Given the description of an element on the screen output the (x, y) to click on. 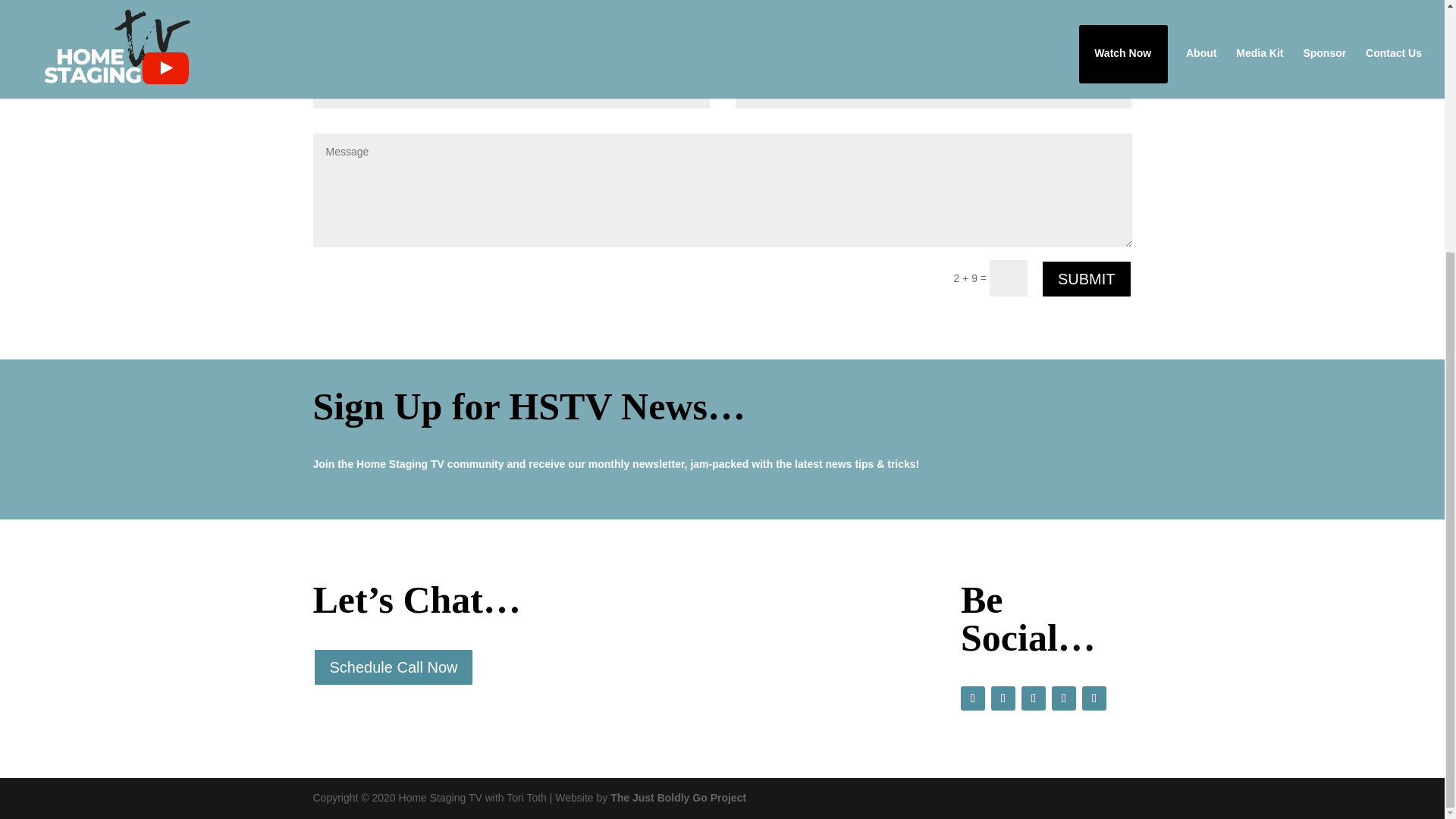
Follow on Youtube (1063, 698)
The Just Boldly Go Project (677, 797)
Follow on Pinterest (1093, 698)
Schedule Call Now (393, 667)
Follow on LinkedIn (1033, 698)
Follow on Facebook (972, 698)
Follow on Instagram (1002, 698)
SUBMIT (1086, 279)
